Given the description of an element on the screen output the (x, y) to click on. 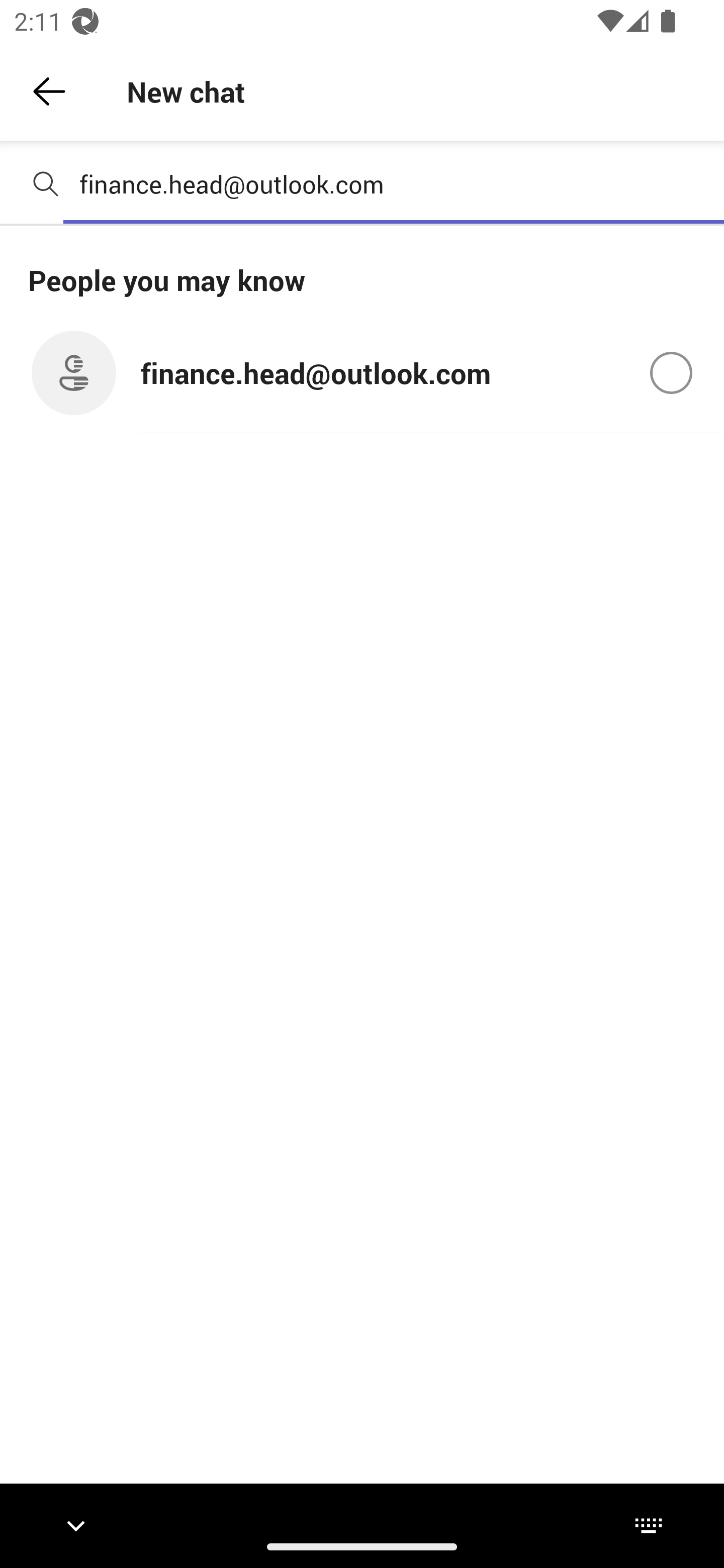
Back (49, 91)
Enter name, phone number, or email (393, 184)
